Given the description of an element on the screen output the (x, y) to click on. 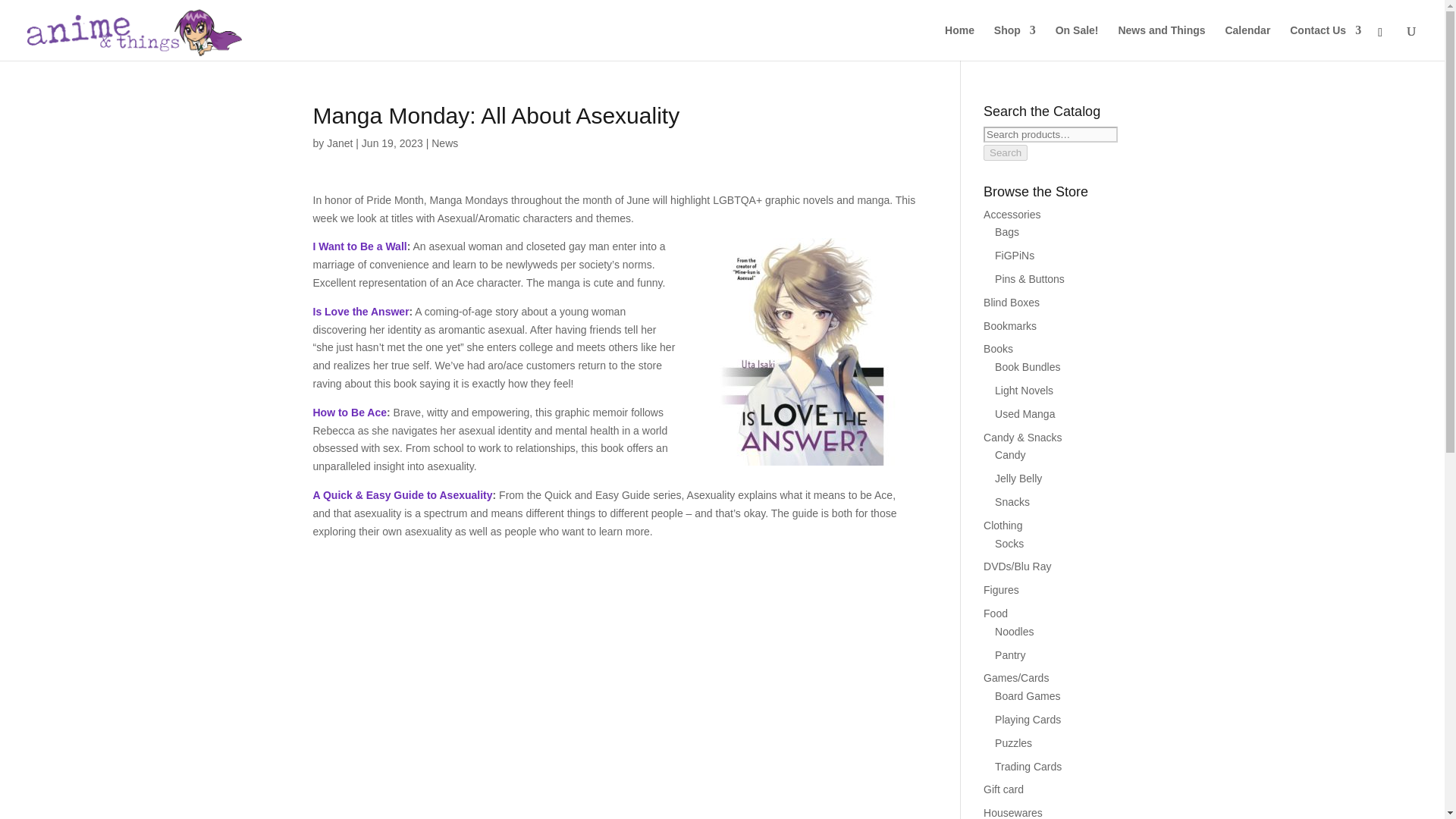
Posts by Janet (339, 143)
On Sale! (1077, 42)
Calendar (1246, 42)
Home (959, 42)
News and Things (1161, 42)
Contact Us (1325, 42)
Shop (1014, 42)
